Given the description of an element on the screen output the (x, y) to click on. 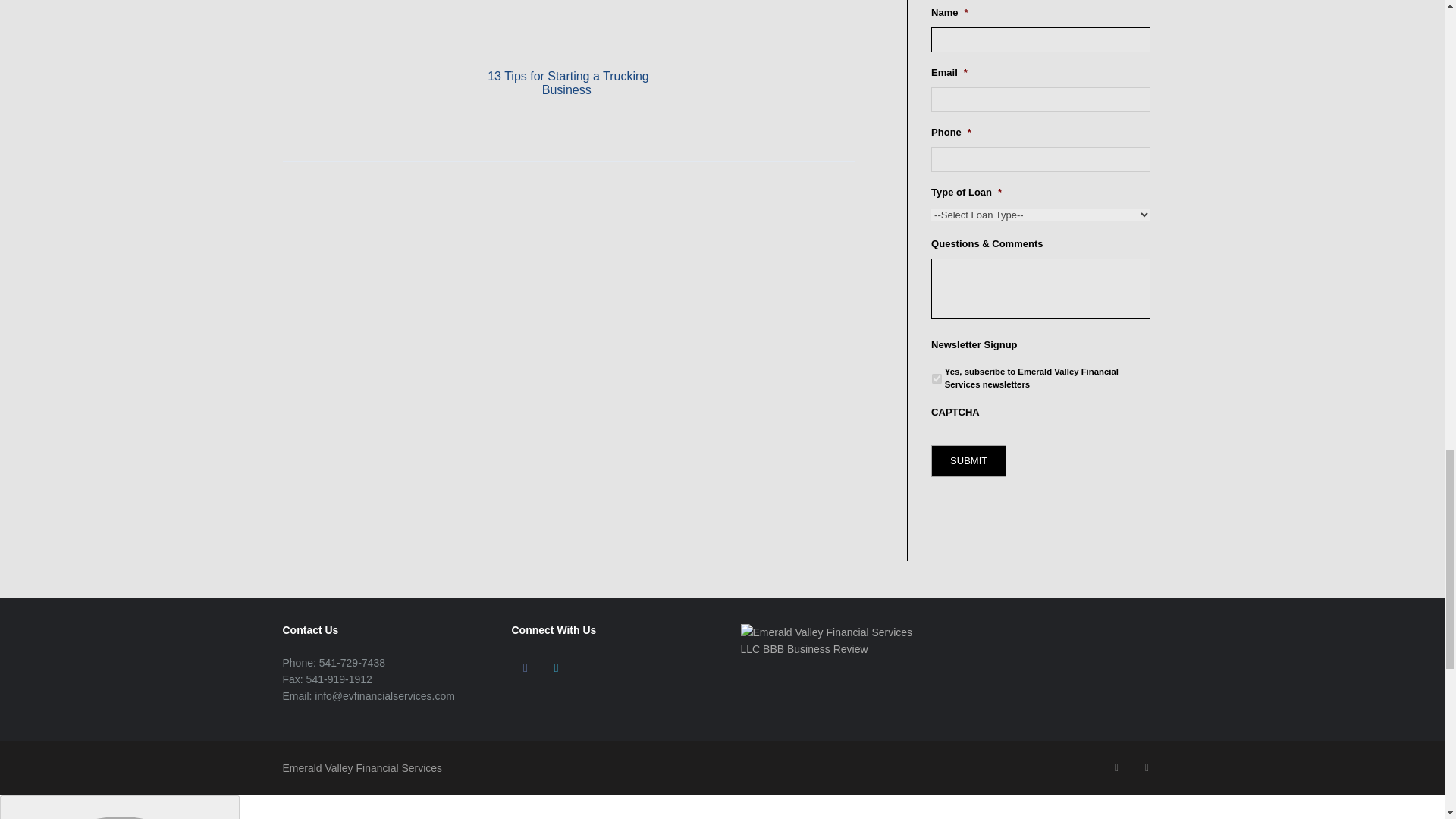
Follow on Facebook (525, 668)
Submit (968, 459)
